Given the description of an element on the screen output the (x, y) to click on. 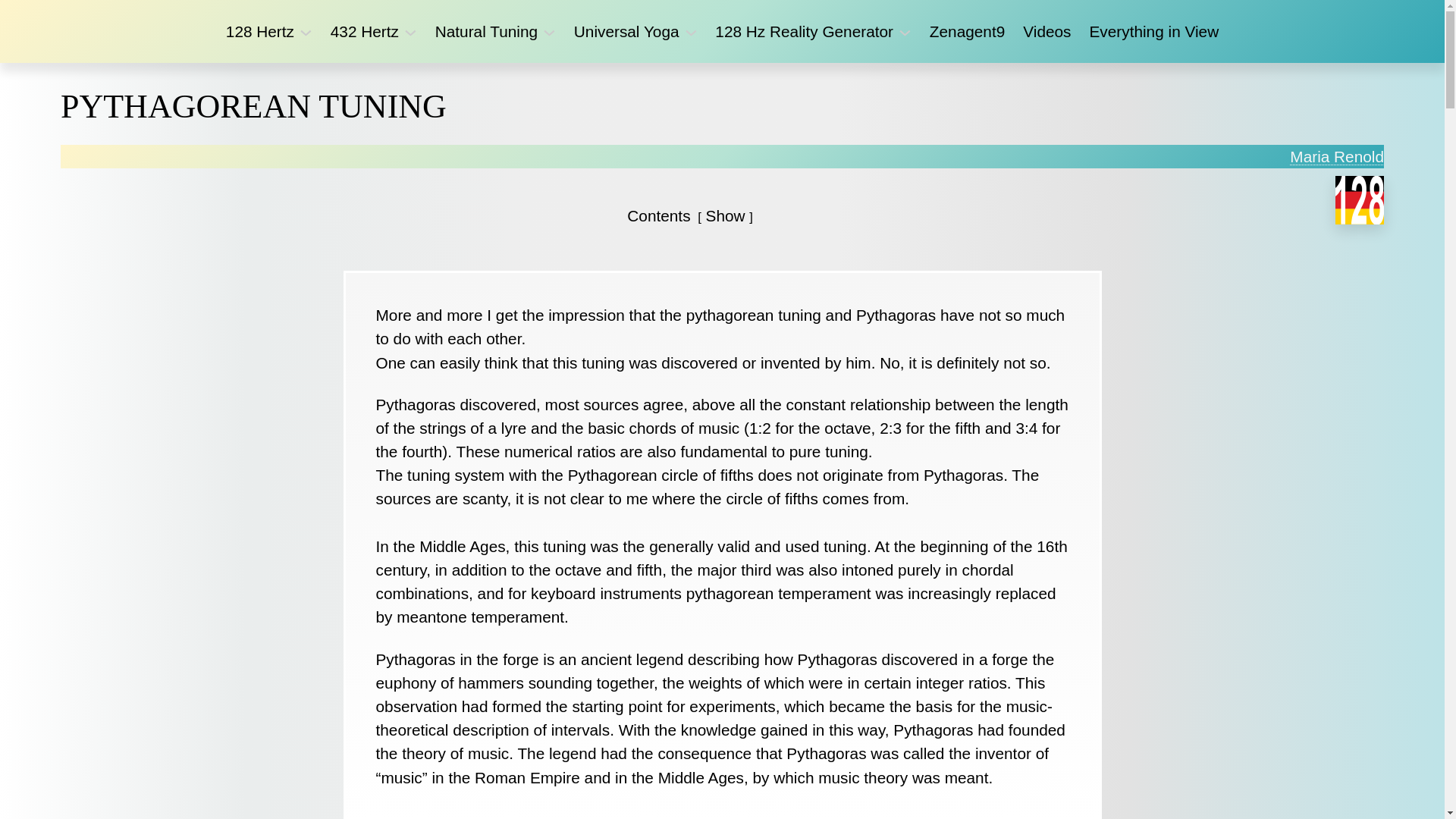
Universal Yoga Element type: text (626, 31)
Zenagent9 Element type: text (966, 31)
128 Hertz Element type: text (259, 31)
432 Hertz Element type: text (364, 31)
Maria Renold Element type: text (1336, 156)
Natural Tuning Element type: text (486, 31)
128 Hz Reality Generator Element type: text (804, 31)
Show Element type: text (725, 215)
Everything in View Element type: text (1153, 31)
Videos Element type: text (1046, 31)
